Given the description of an element on the screen output the (x, y) to click on. 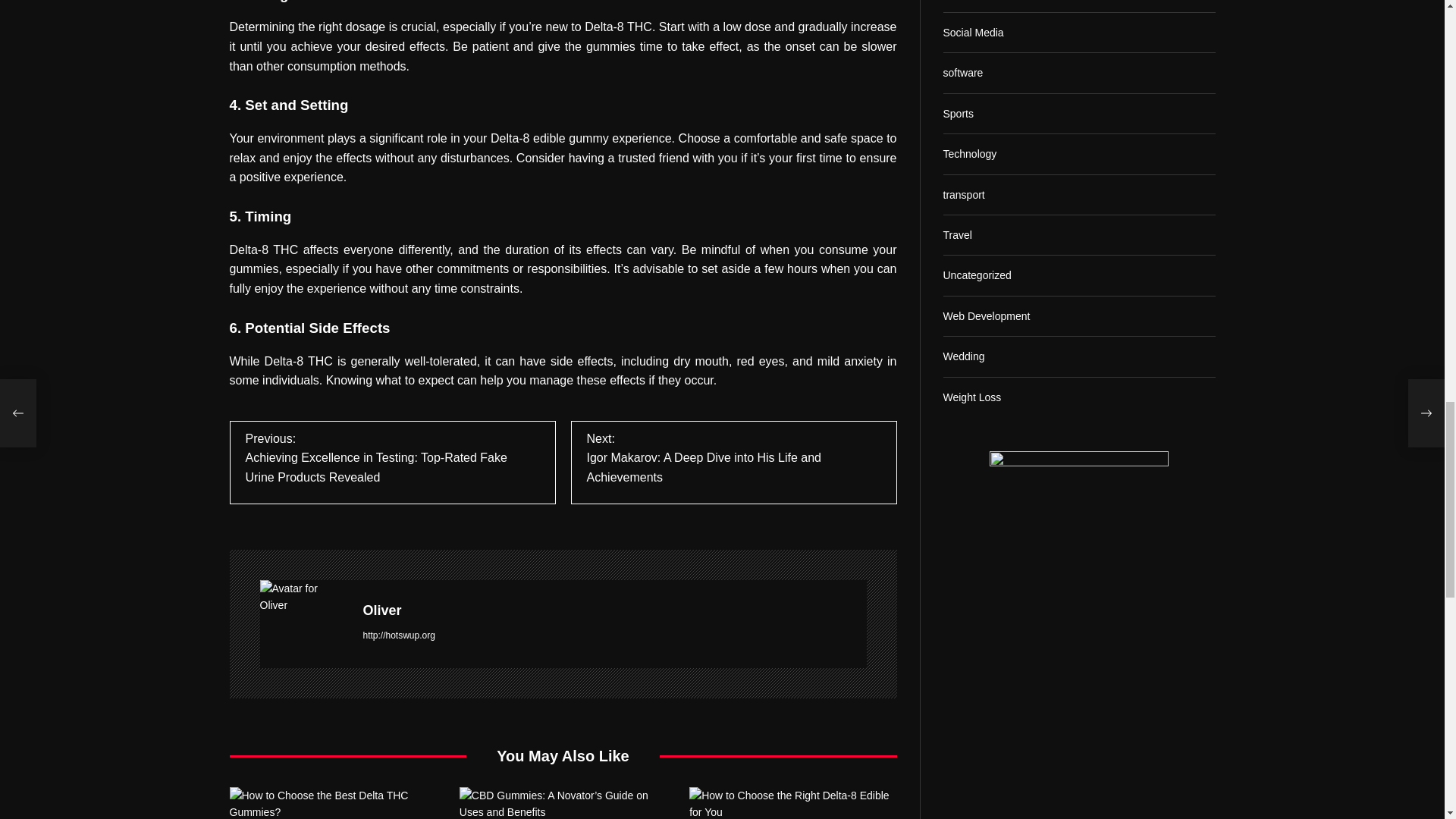
Oliver (614, 610)
Oliver (614, 610)
Oliver (303, 596)
